Given the description of an element on the screen output the (x, y) to click on. 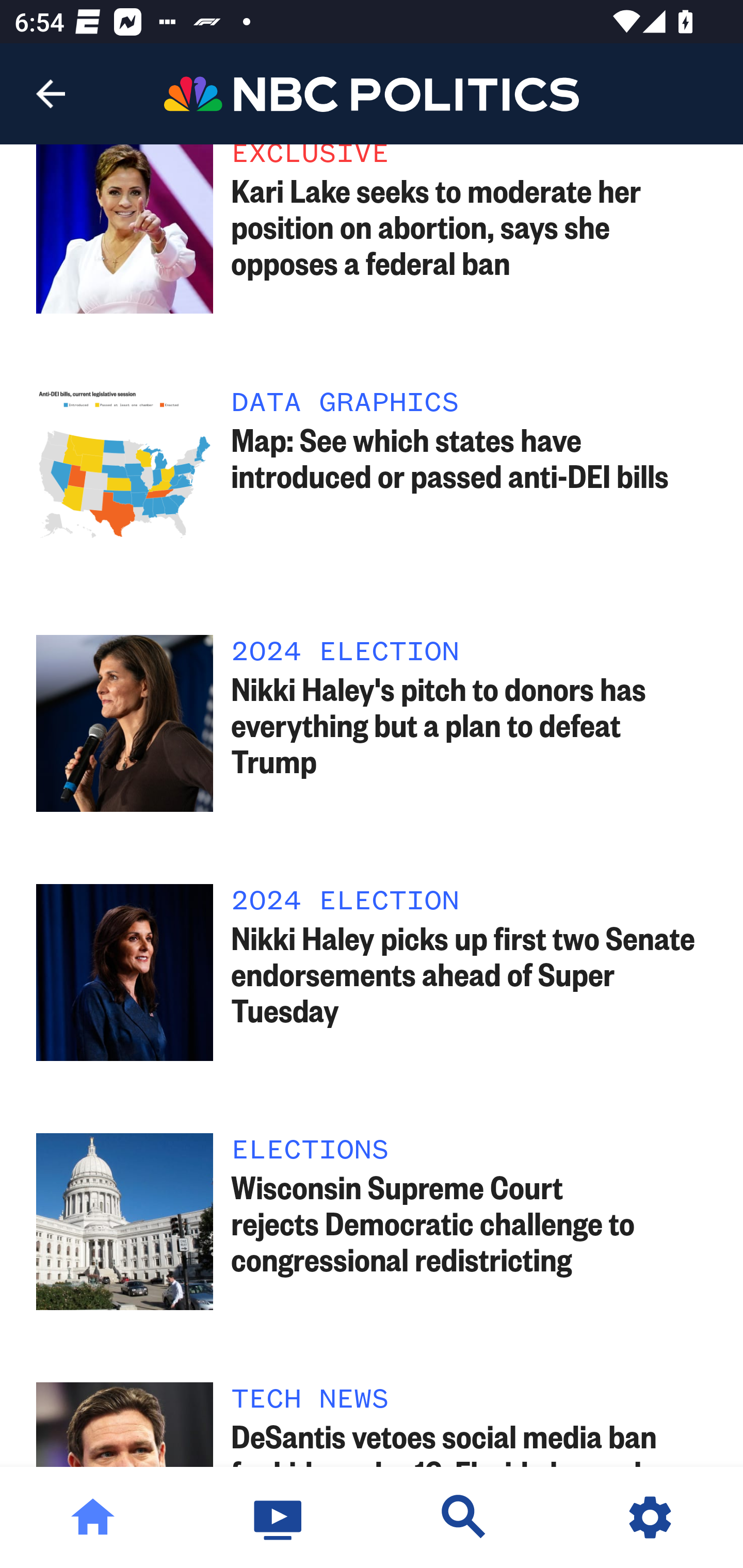
Navigate up (50, 93)
Watch (278, 1517)
Discover (464, 1517)
Settings (650, 1517)
